Given the description of an element on the screen output the (x, y) to click on. 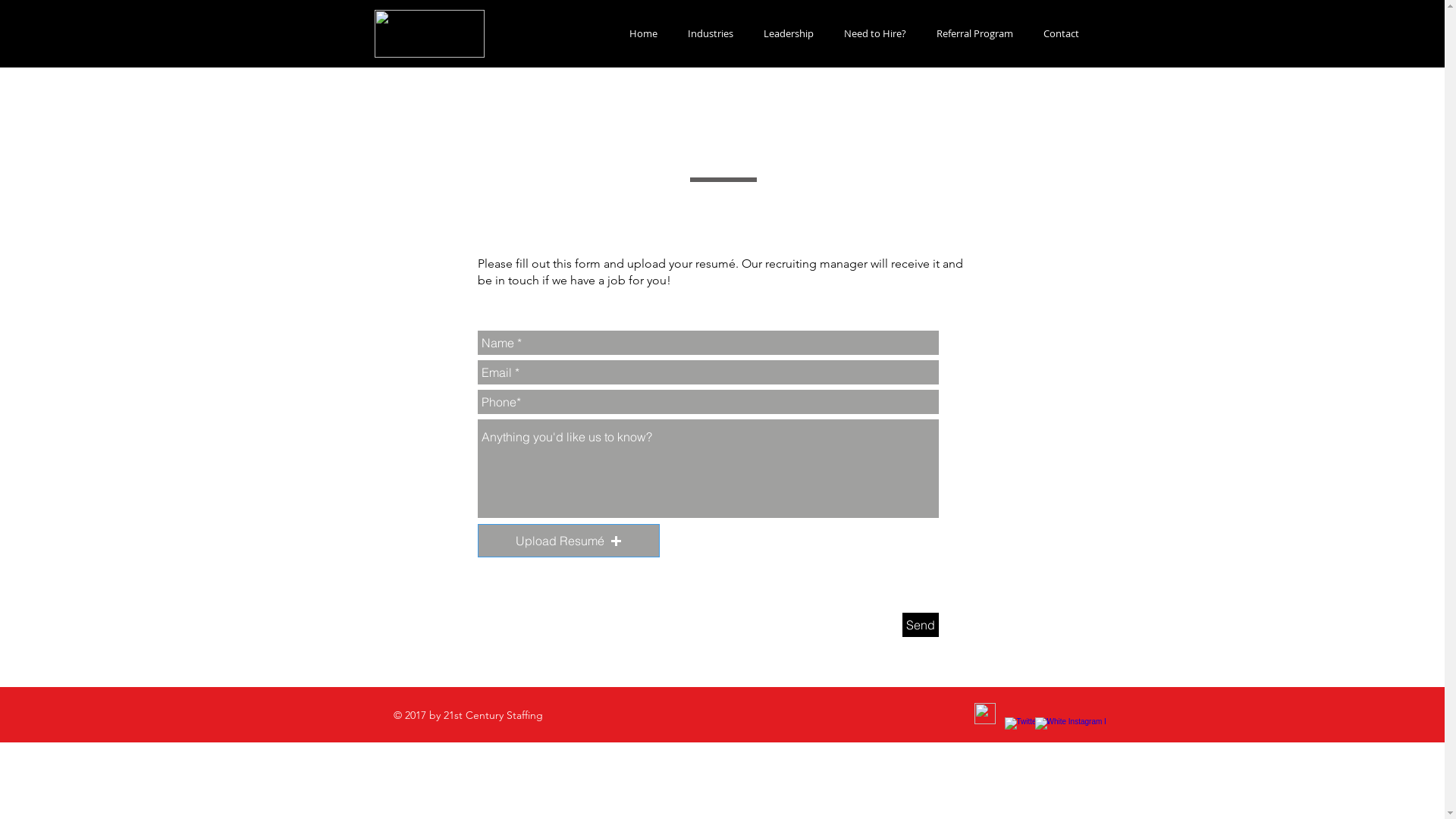
Home Element type: text (643, 33)
Referral Program Element type: text (973, 33)
Industries Element type: text (709, 33)
Contact Element type: text (1061, 33)
Need to Hire? Element type: text (874, 33)
Leadership Element type: text (787, 33)
Send Element type: text (920, 624)
